Given the description of an element on the screen output the (x, y) to click on. 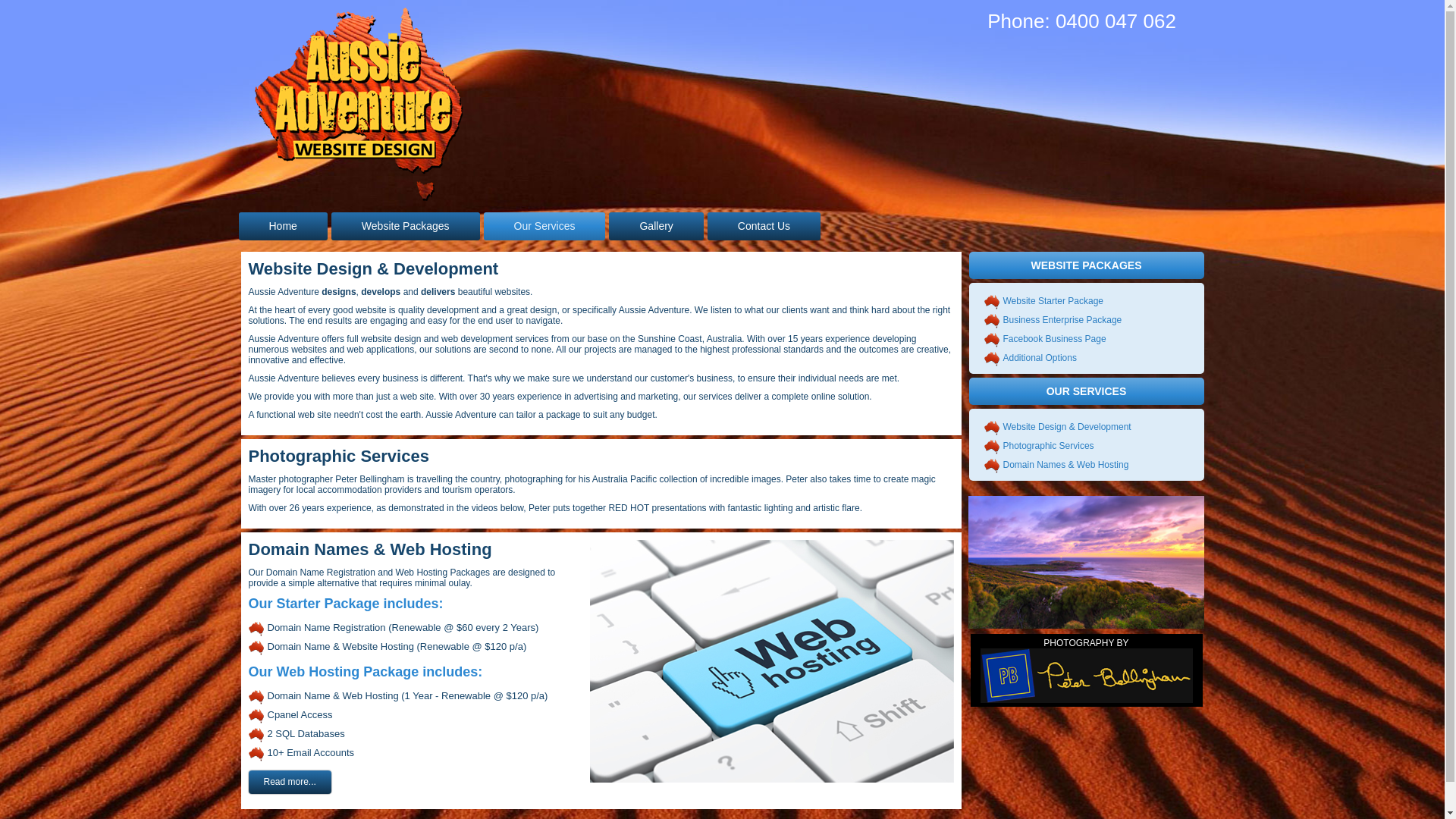
Gallery Element type: text (655, 226)
Facebook Business Page Element type: text (1053, 338)
Contact Us Element type: text (763, 226)
Business Enterprise Package Element type: text (1061, 319)
Phone: 0400 047 062 Element type: text (1081, 20)
Domain Names & Web Hosting Element type: text (1065, 464)
Photographic Services Element type: text (1047, 445)
Home Element type: text (282, 226)
Additional Options Element type: text (1039, 357)
Website Starter Package Element type: text (1052, 300)
Website Design & Development Element type: text (1066, 426)
Website Packages Element type: text (405, 226)
Read more... Element type: text (289, 781)
Our Services Element type: text (544, 226)
